Given the description of an element on the screen output the (x, y) to click on. 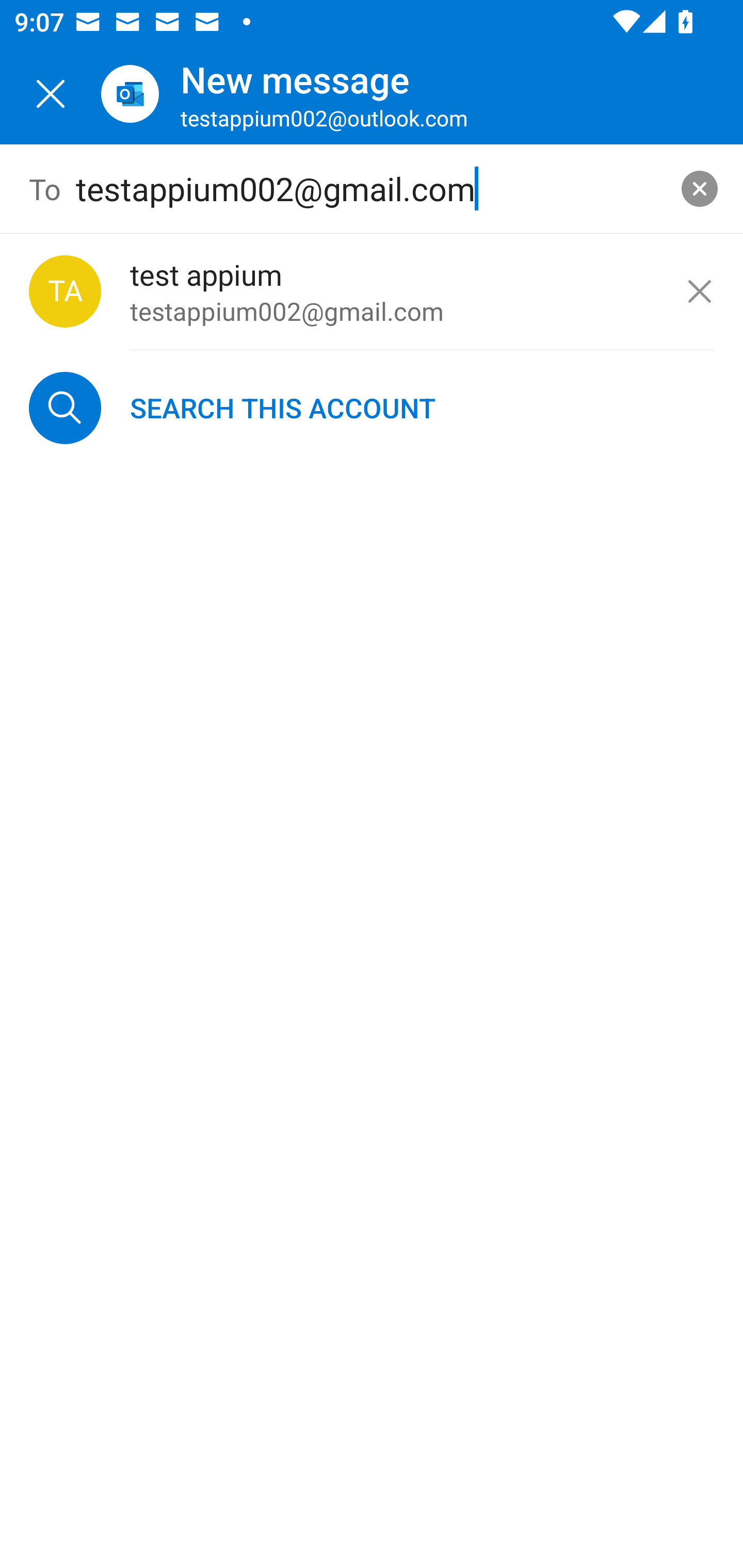
Close (50, 93)
testappium002@gmail.com (371, 188)
clear search (699, 188)
